Given the description of an element on the screen output the (x, y) to click on. 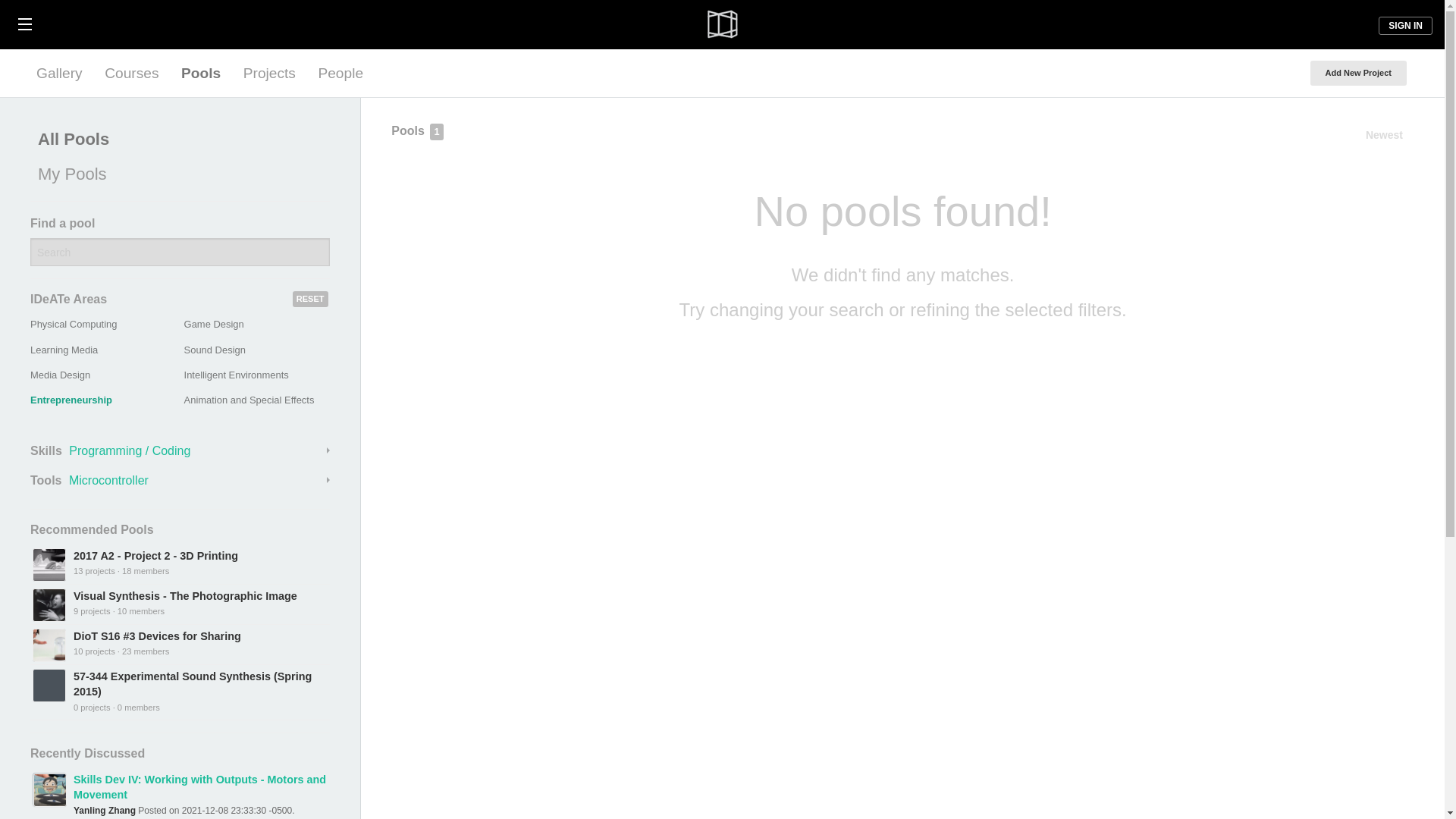
SIGN IN (1405, 25)
Media Design (60, 374)
Pools (200, 73)
All Pools (175, 139)
Physical Computing (73, 324)
Animation and Special Effects (249, 399)
Entrepreneurship (71, 399)
Intelligent Environments (236, 374)
Sound Design (215, 349)
RESET (310, 299)
Gallery (59, 73)
Learning Media (63, 349)
Courses (131, 73)
People (340, 73)
Add New Project (1358, 72)
